Given the description of an element on the screen output the (x, y) to click on. 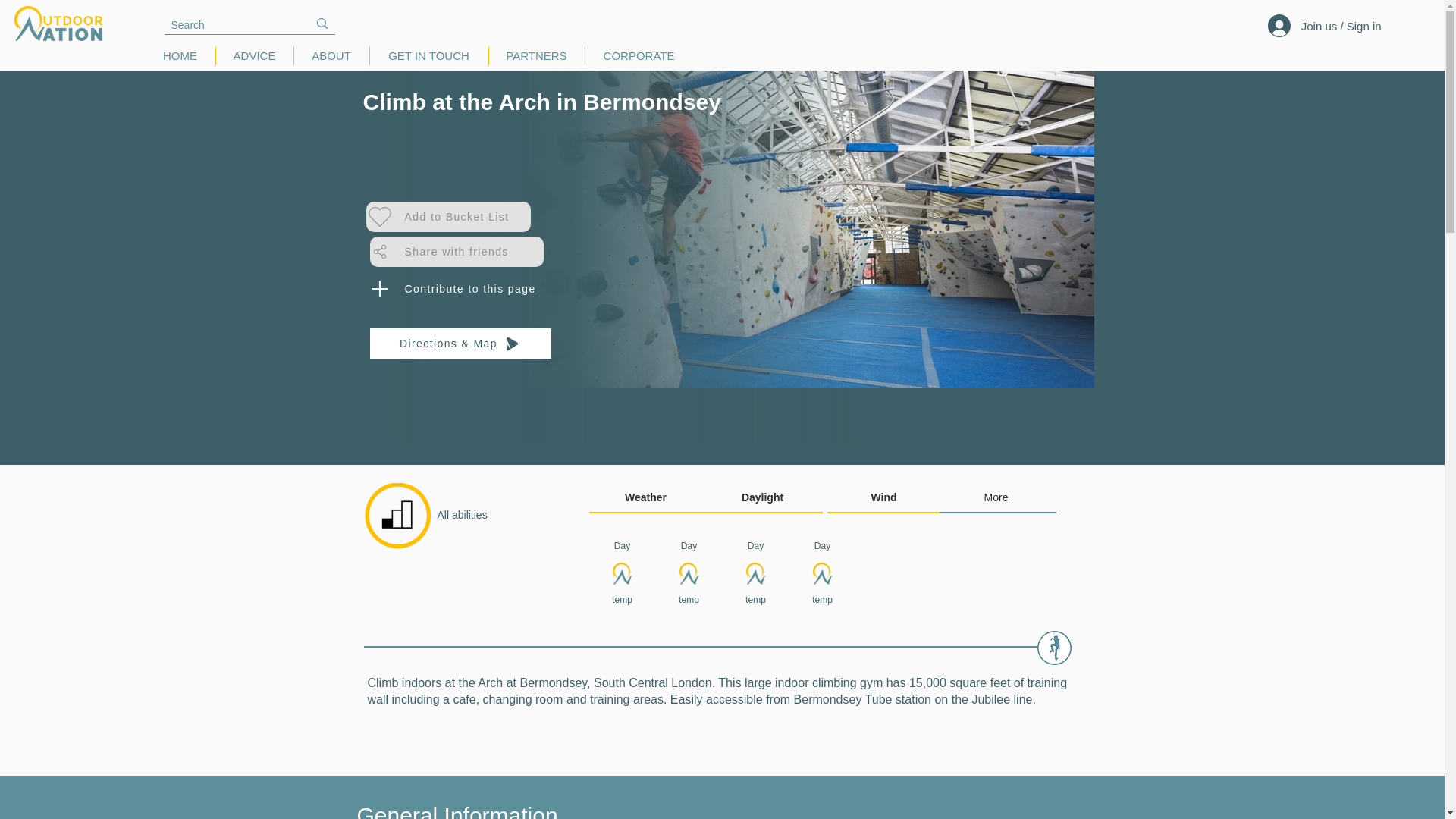
Weather (646, 498)
CORPORATE (398, 515)
GET IN TOUCH (639, 55)
Wind (428, 55)
ABOUT (885, 498)
Contribute to this page (331, 55)
Share with friends (465, 288)
ADVICE (456, 251)
Add to Bucket List (253, 55)
HOME (447, 216)
Suggest an update (180, 55)
Daylight (997, 498)
Outdoor Nation - outdoor activities near you! (763, 498)
